Given the description of an element on the screen output the (x, y) to click on. 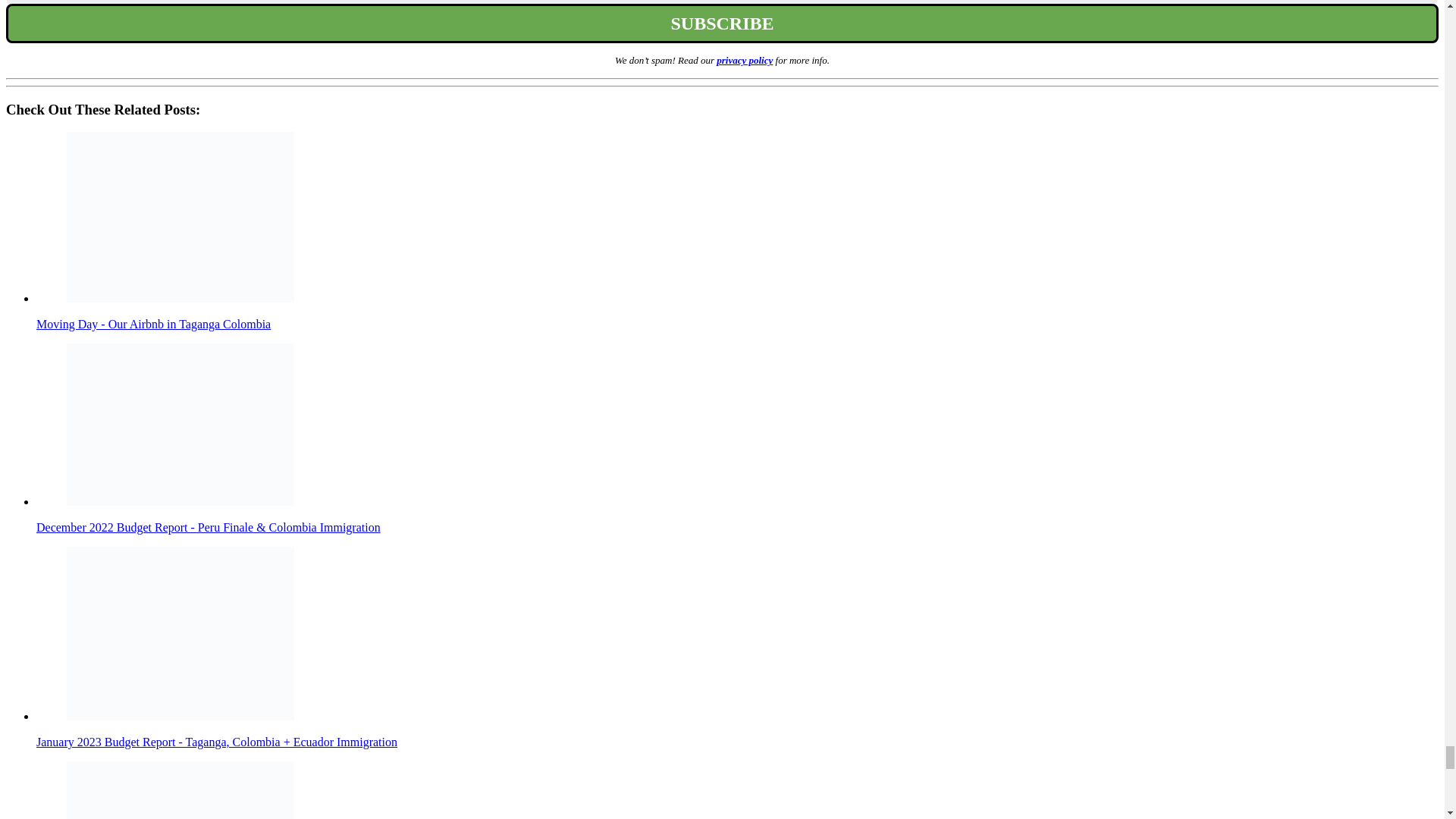
Moving Day - Our Airbnb in Taganga Colombia (180, 216)
